Given the description of an element on the screen output the (x, y) to click on. 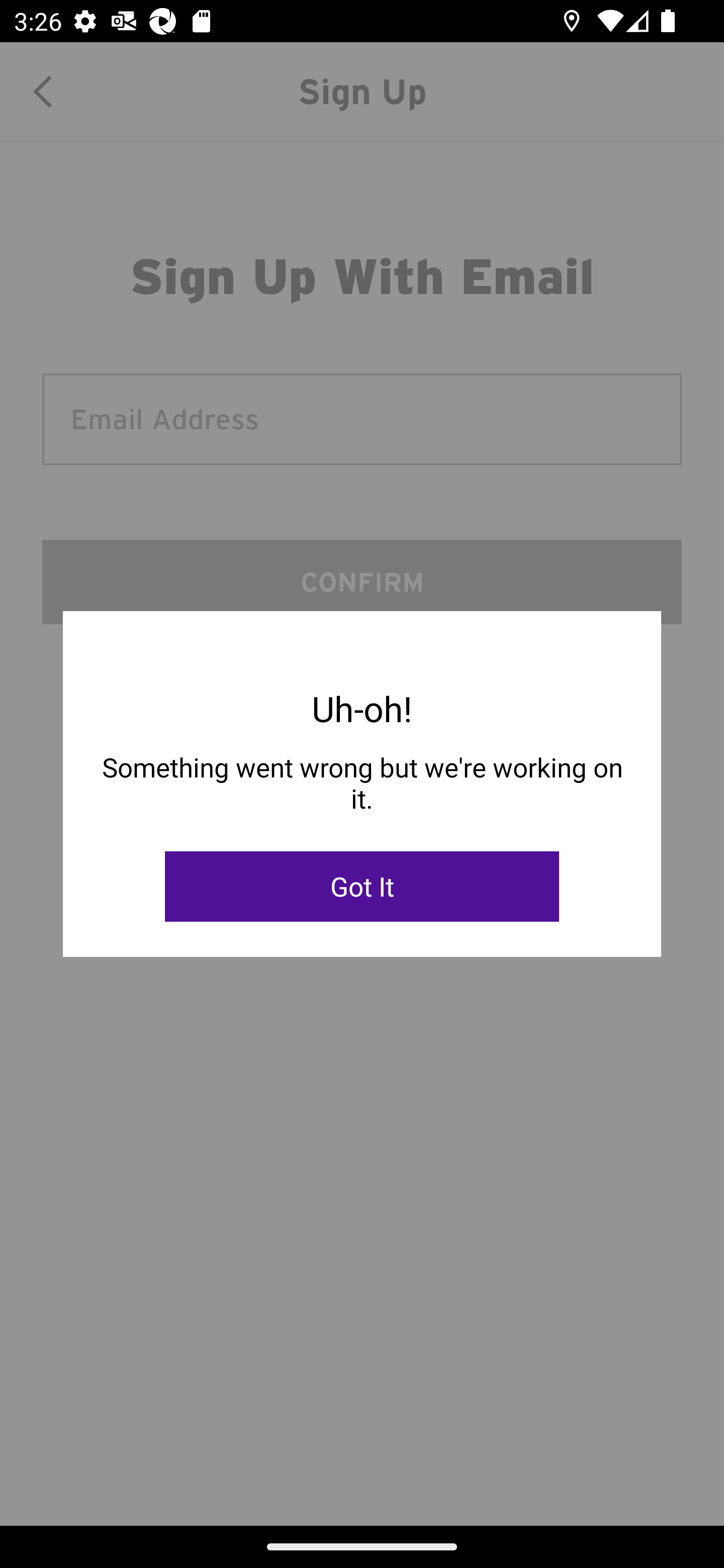
Got It (361, 886)
